Given the description of an element on the screen output the (x, y) to click on. 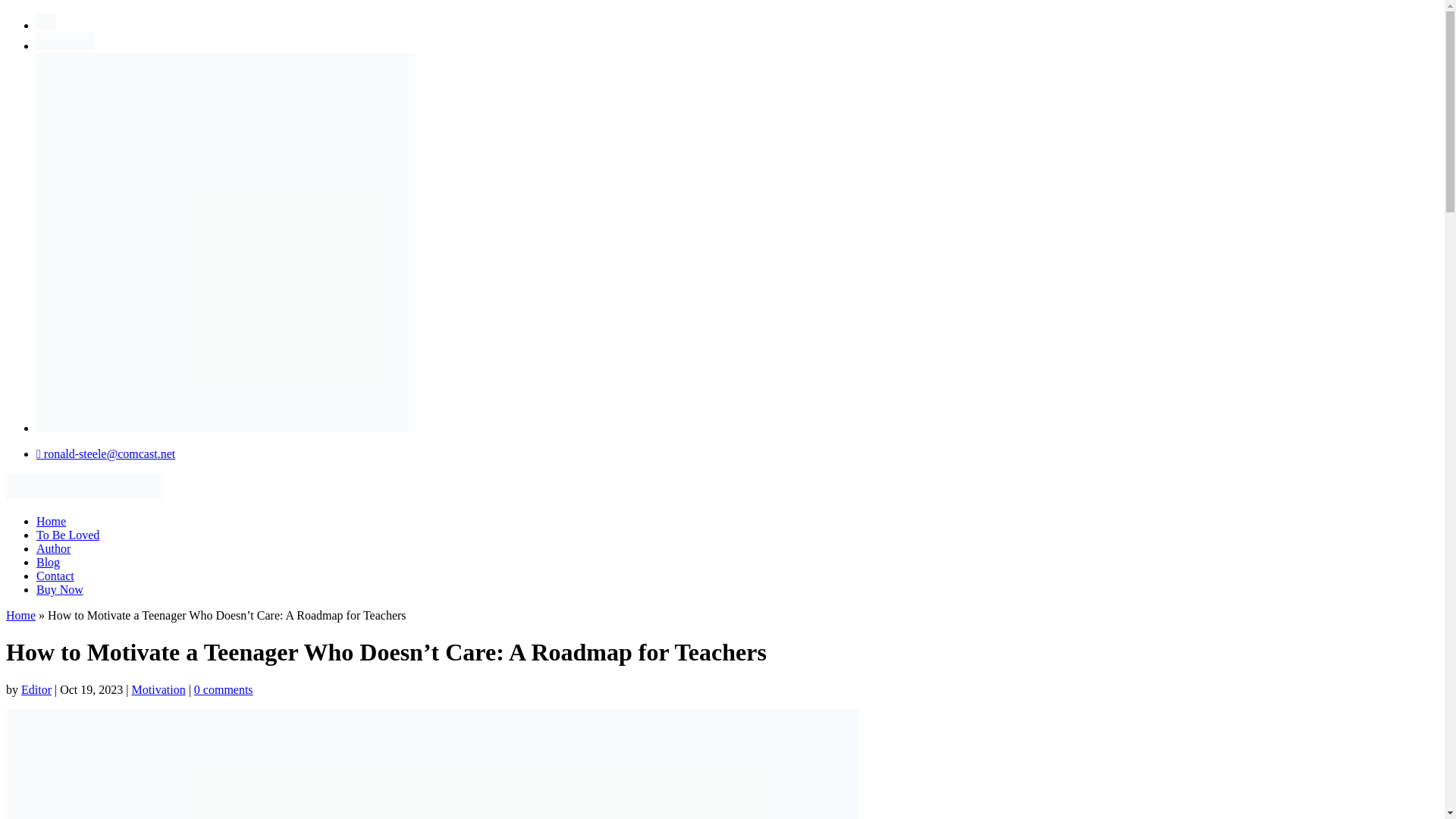
Buy Now (59, 589)
To Be Loved (67, 534)
Contact (55, 575)
Ronald Steele (83, 486)
Motivation (159, 689)
To Be Loved (46, 20)
Home (19, 615)
Blog (47, 562)
Author (52, 548)
